Given the description of an element on the screen output the (x, y) to click on. 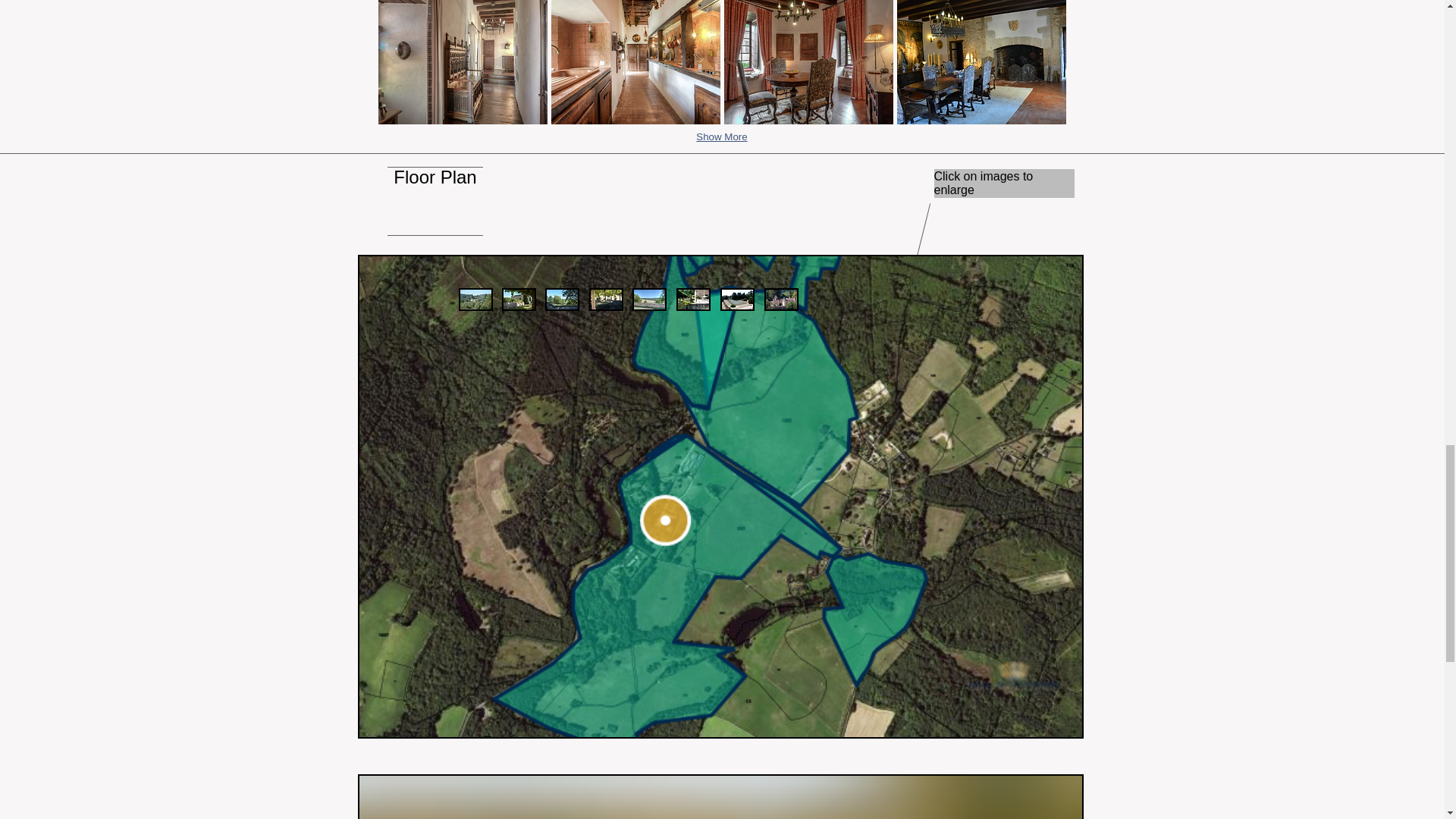
1.jpg (605, 299)
1.jpg (737, 299)
Show More (721, 137)
1.jpg (648, 299)
1.jpg (561, 299)
1.jpg (475, 299)
1.jpg (518, 299)
1.jpg (693, 299)
1.jpg (780, 299)
plate-floor-plans-Upper-Level.jpg (720, 796)
